Given the description of an element on the screen output the (x, y) to click on. 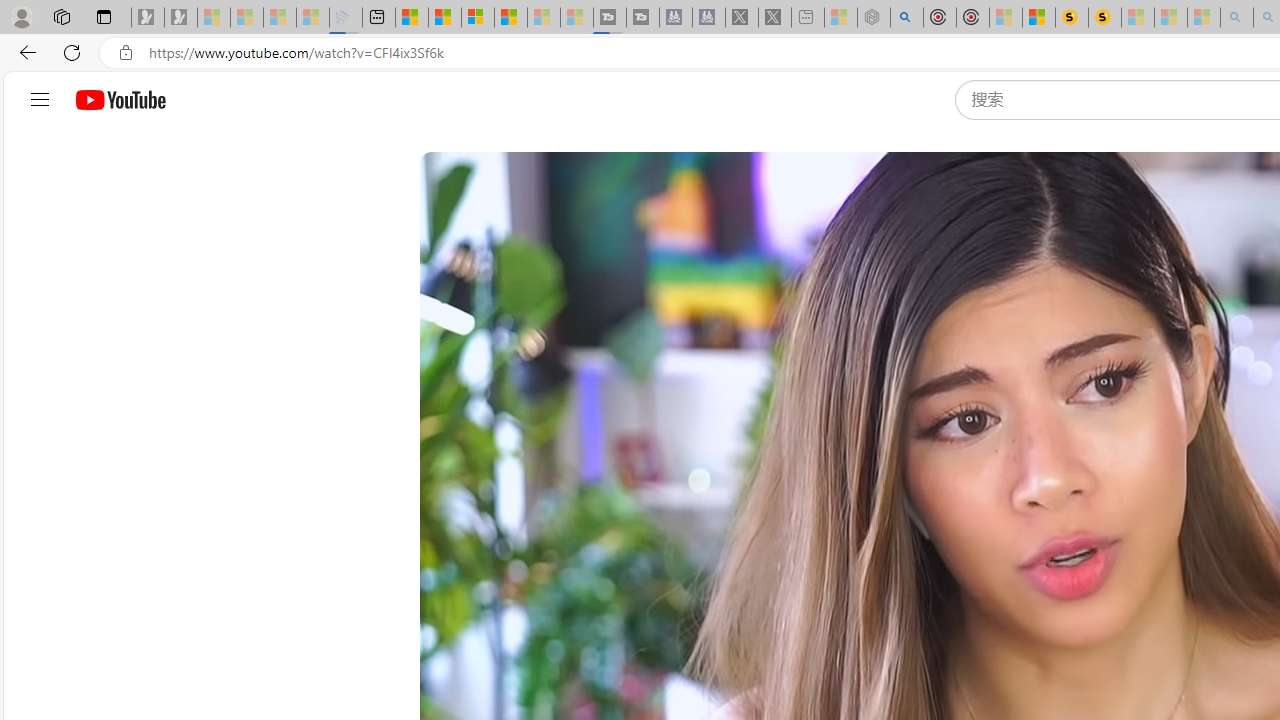
Nordace - Summer Adventures 2024 - Sleeping (873, 17)
Back (24, 52)
Overview (478, 17)
View site information (125, 53)
Microsoft Start - Sleeping (543, 17)
poe - Search (906, 17)
Michelle Starr, Senior Journalist at ScienceAlert (1105, 17)
amazon - Search - Sleeping (1237, 17)
